Given the description of an element on the screen output the (x, y) to click on. 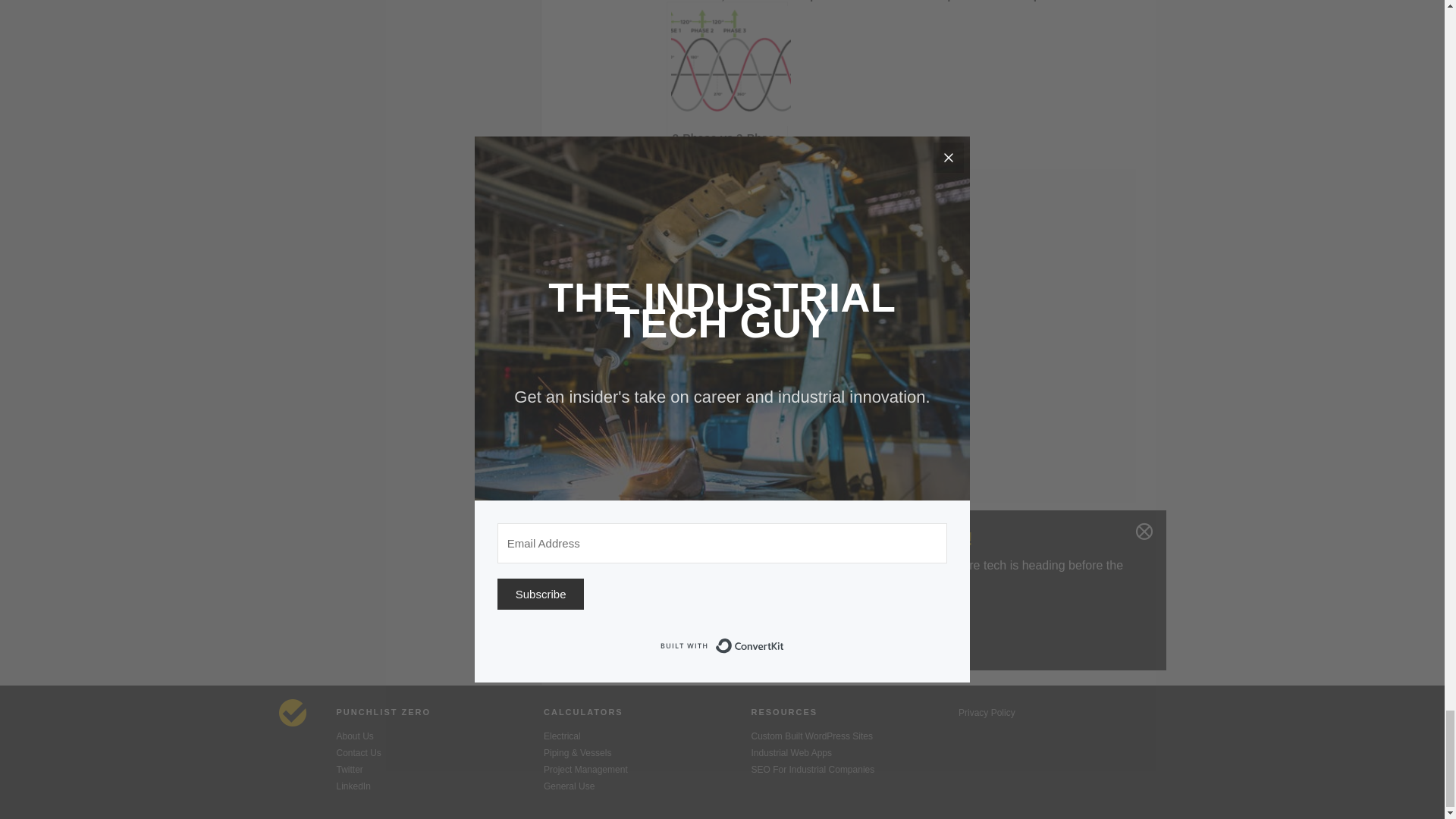
About Us (440, 736)
Electrical (647, 736)
Twitter (440, 768)
LinkedIn (440, 786)
General Use (647, 786)
2-Phase vs 3-Phase (726, 77)
Contact Us (440, 752)
Project Management Calculators (647, 768)
2-Phase vs 3-Phase (726, 77)
Electrical Calculators (647, 736)
Piping and Vessel Calculators (647, 752)
Project Management (647, 768)
Subscribe (935, 622)
